Given the description of an element on the screen output the (x, y) to click on. 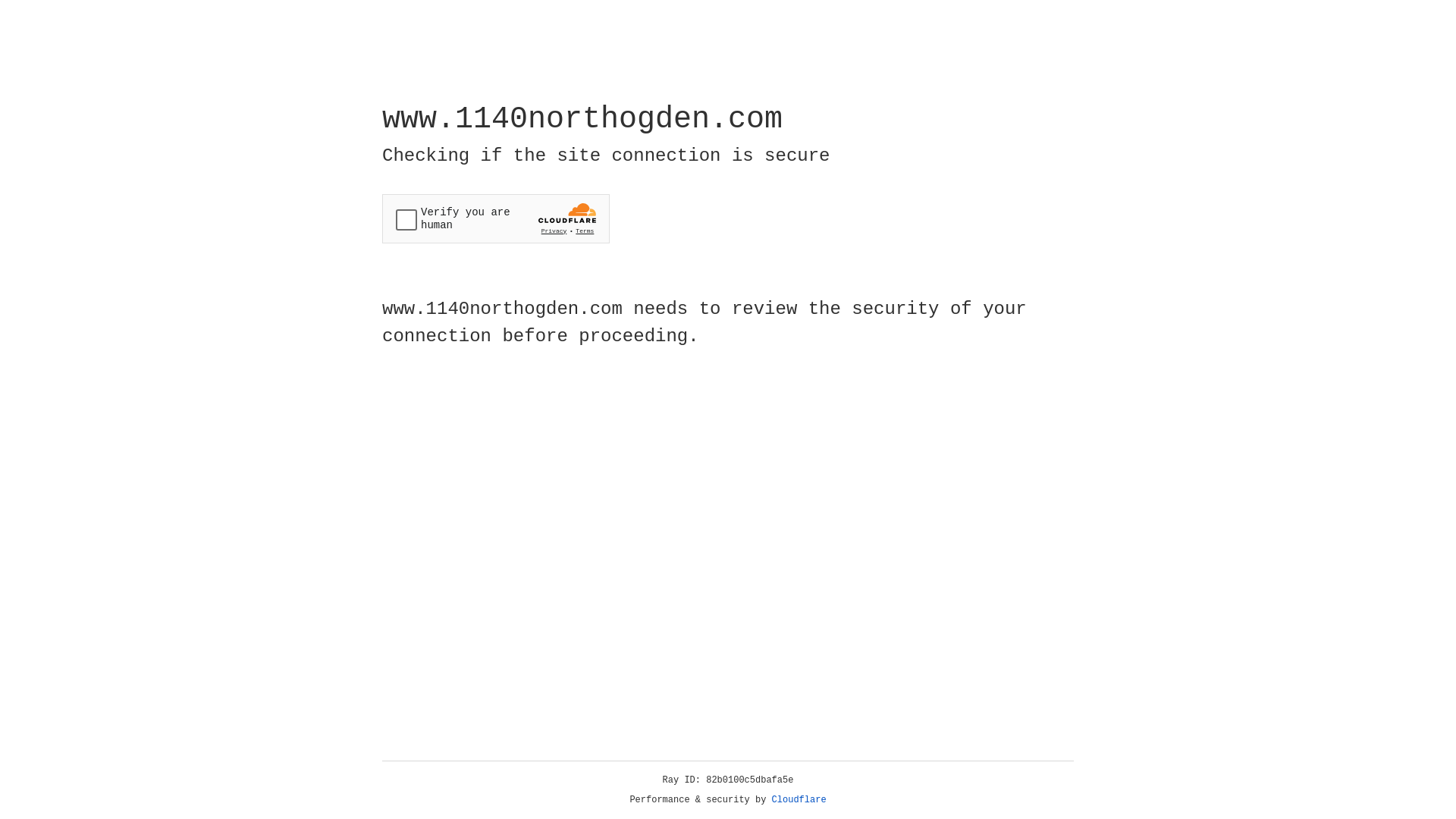
Widget containing a Cloudflare security challenge Element type: hover (495, 218)
Cloudflare Element type: text (798, 799)
